Given the description of an element on the screen output the (x, y) to click on. 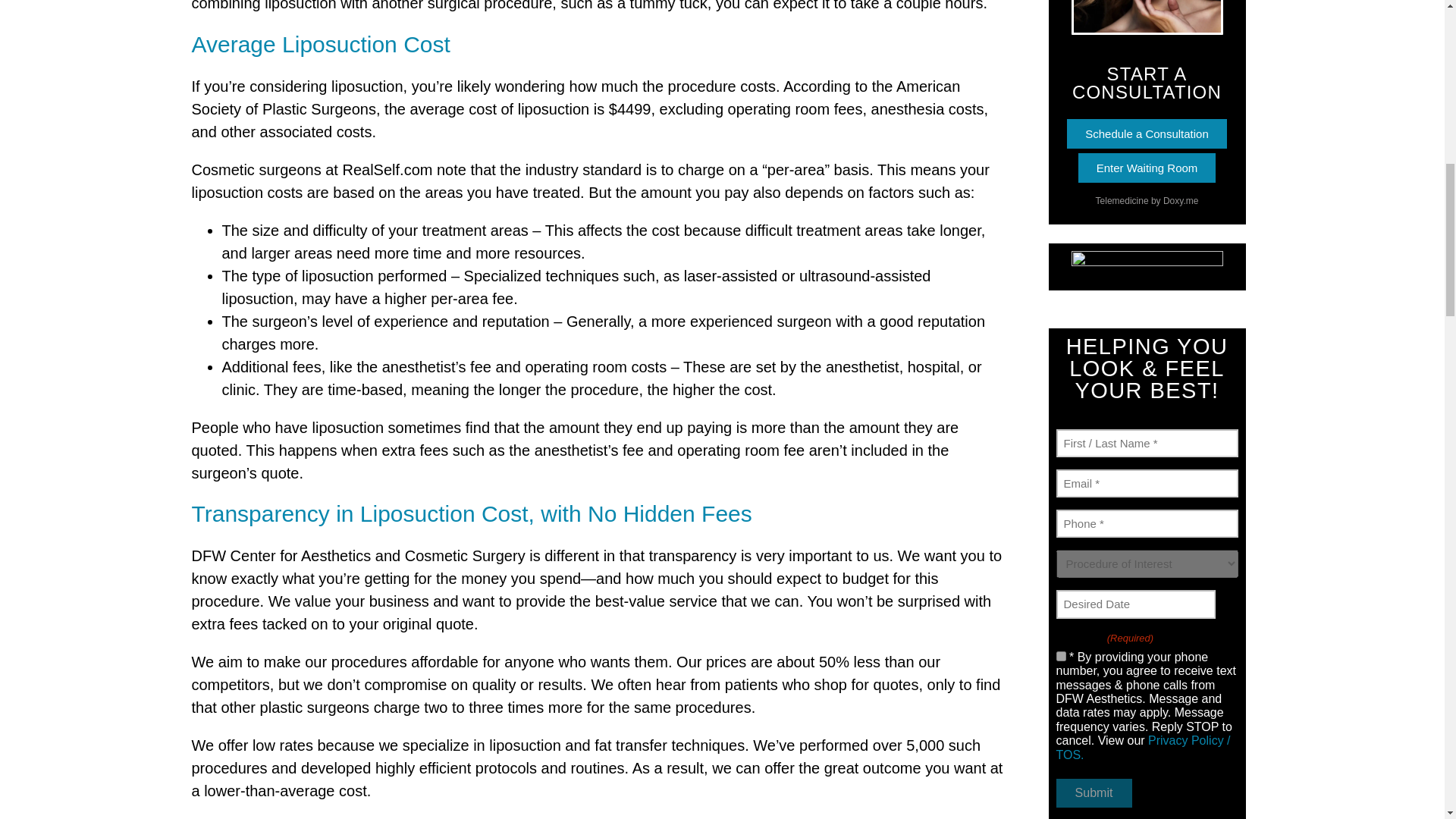
1 (1060, 655)
Submit (1093, 792)
Privacy Policy (1142, 746)
